Given the description of an element on the screen output the (x, y) to click on. 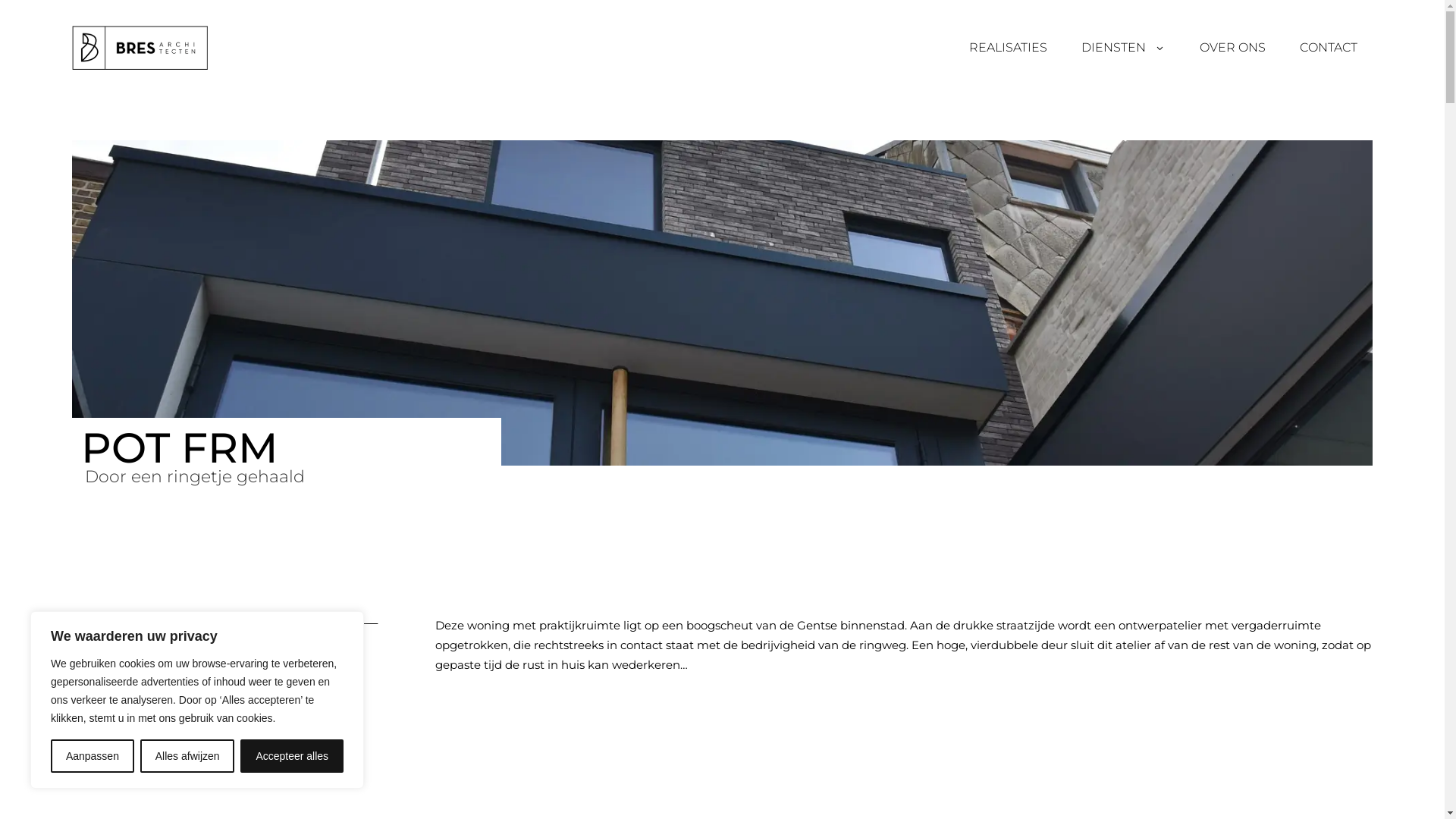
REALISATIES Element type: text (1007, 47)
Alles afwijzen Element type: text (187, 755)
OVER ONS Element type: text (1232, 47)
CONTACT Element type: text (1328, 47)
DIENSTEN Element type: text (1123, 47)
Accepteer alles Element type: text (291, 755)
Aanpassen Element type: text (92, 755)
